Given the description of an element on the screen output the (x, y) to click on. 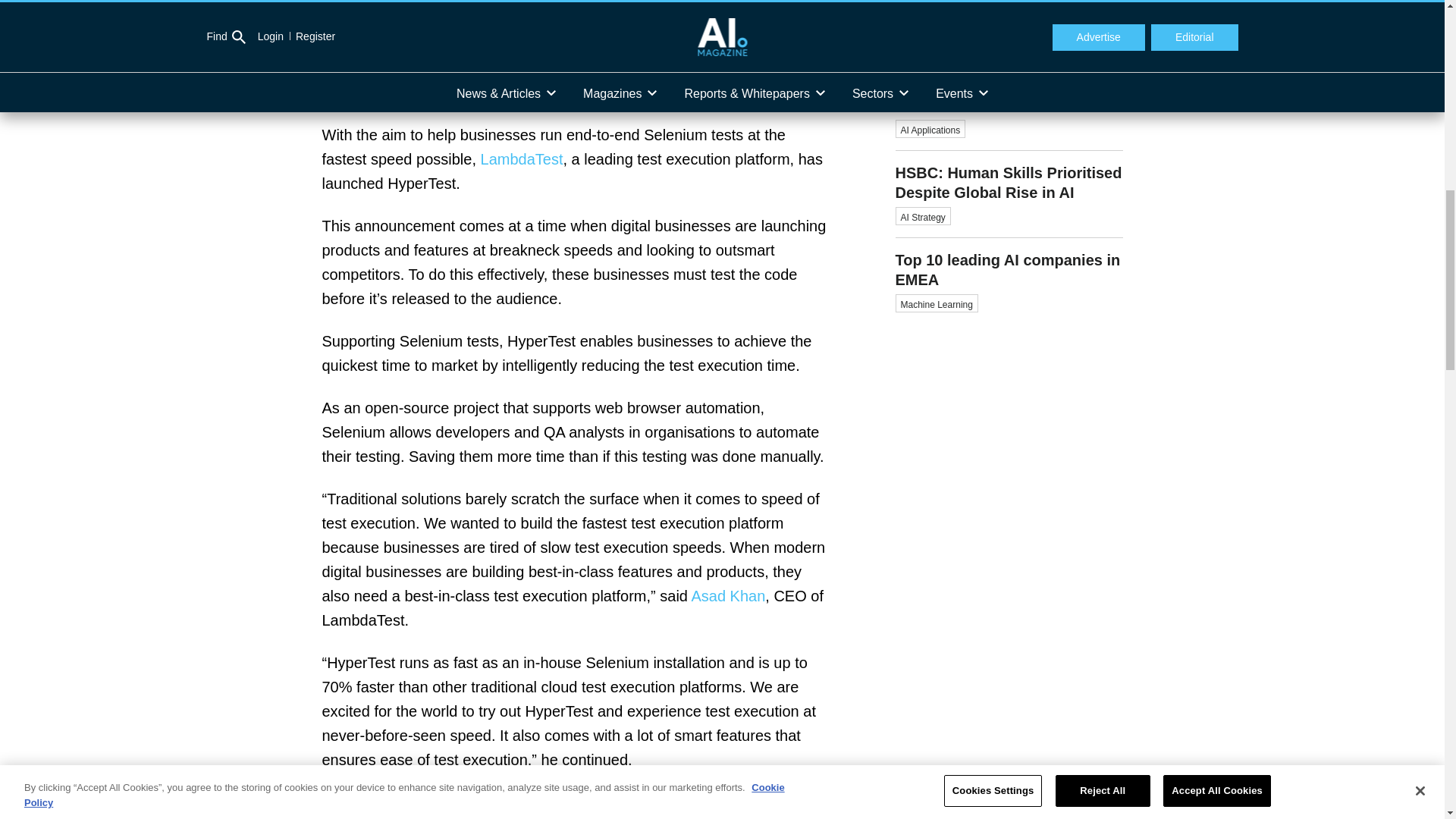
3rd party ad content (1008, 557)
